Given the description of an element on the screen output the (x, y) to click on. 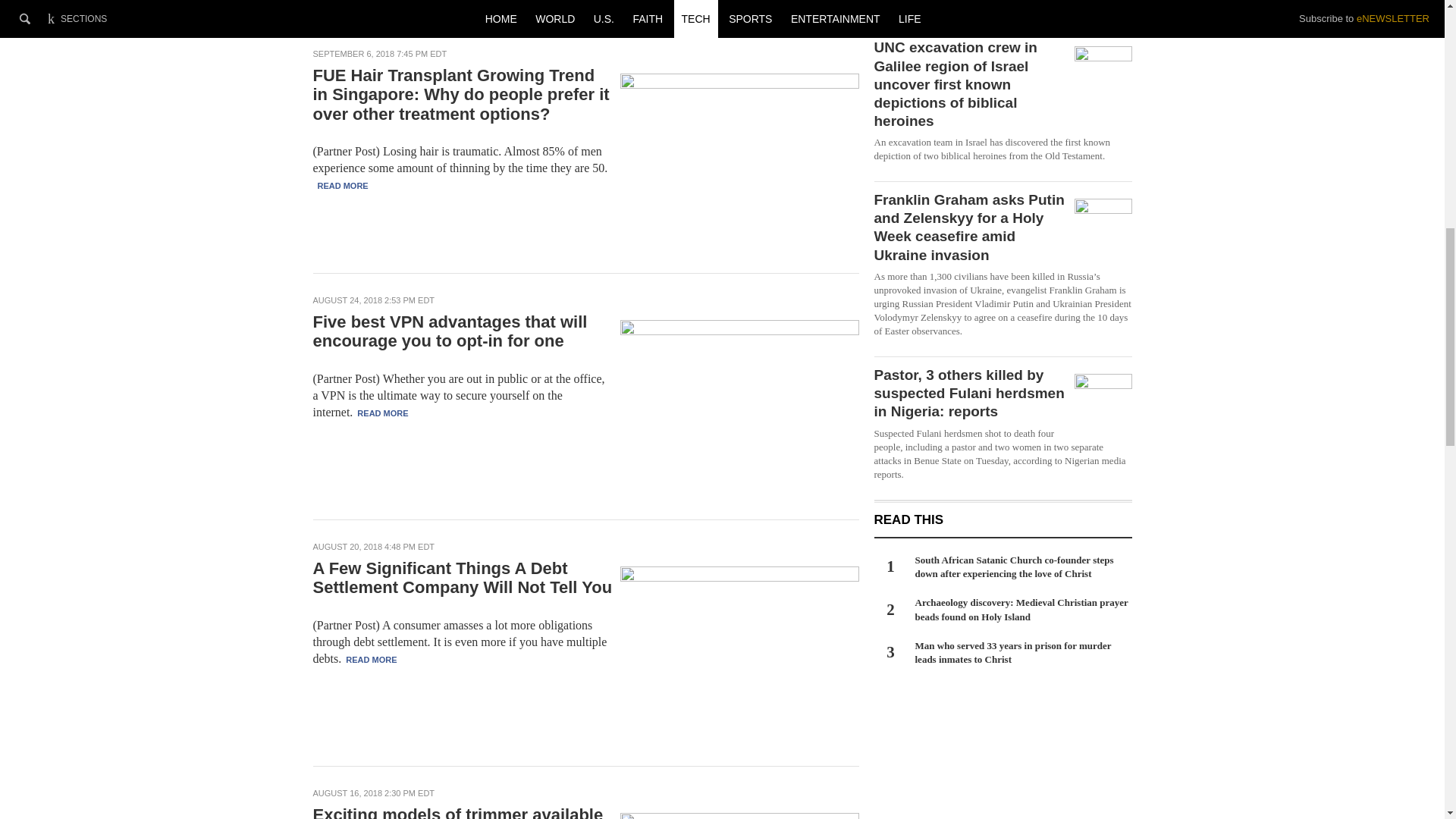
READ MORE (381, 412)
READ MORE (342, 185)
